Given the description of an element on the screen output the (x, y) to click on. 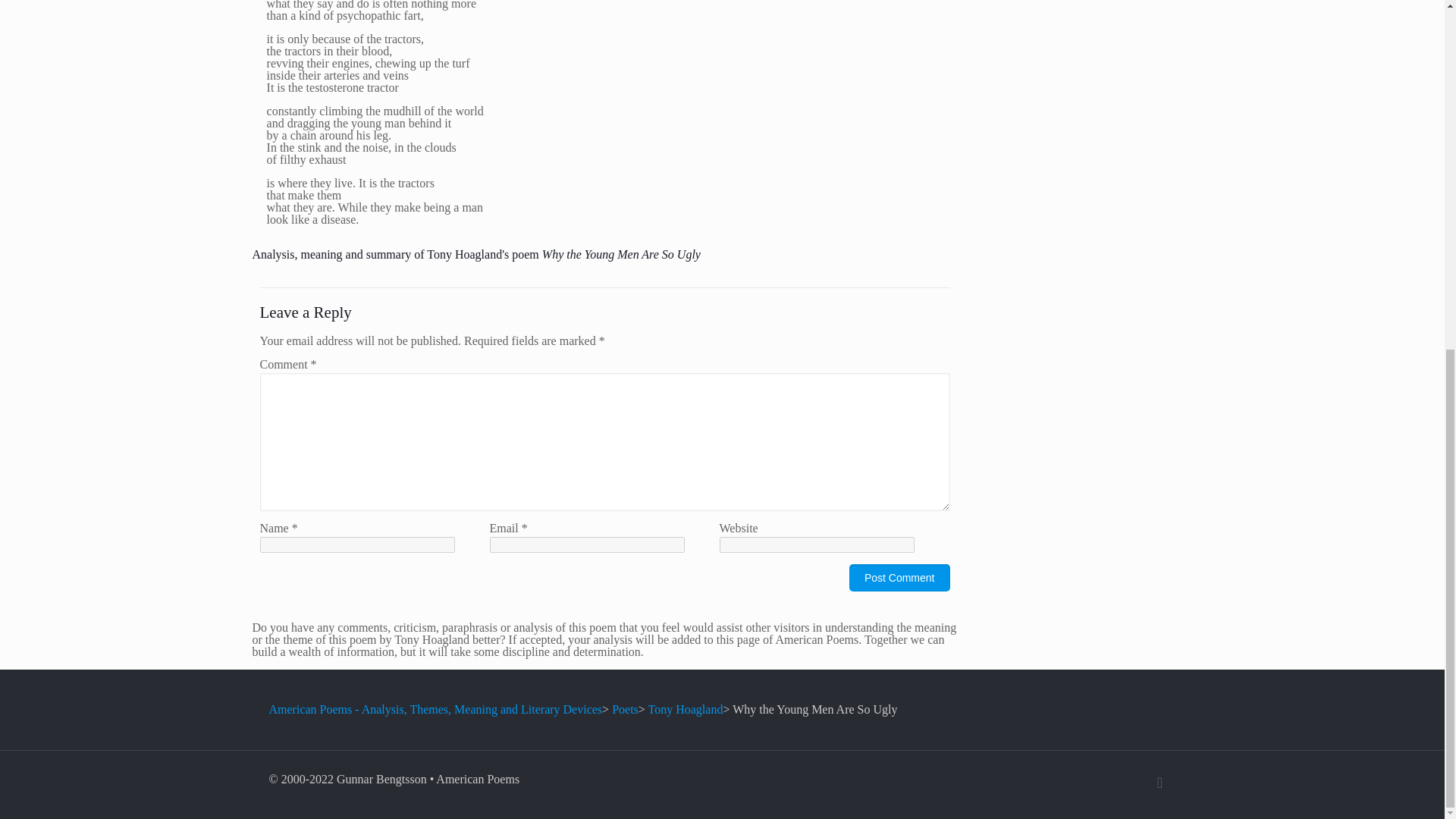
Go to Tony Hoagland. (685, 708)
Post Comment (899, 577)
Go to Poets. (625, 708)
Post Comment (899, 577)
Poets (625, 708)
Tony Hoagland (685, 708)
